Given the description of an element on the screen output the (x, y) to click on. 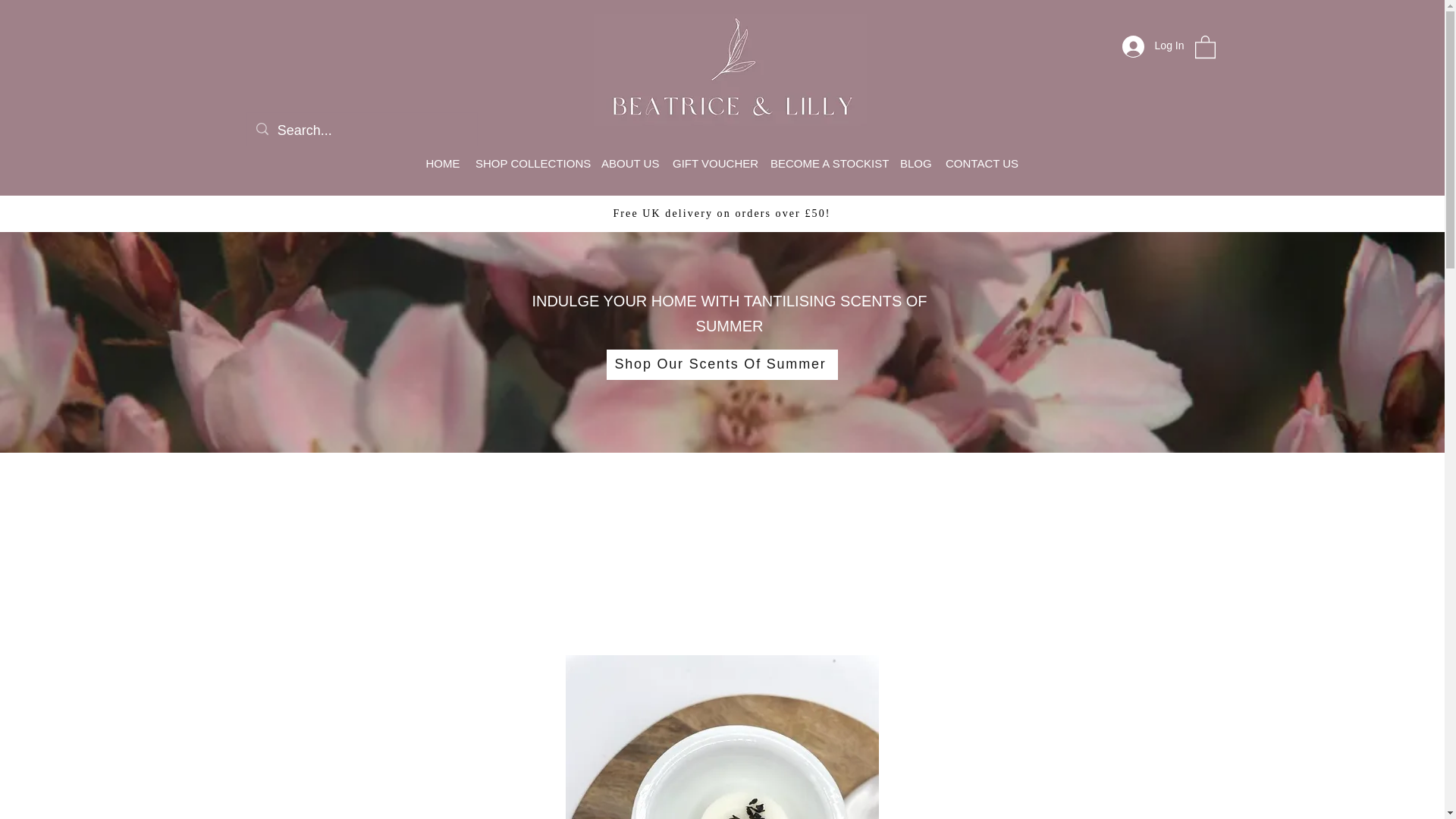
GIFT VOUCHER (713, 163)
CONTACT US (981, 163)
ABOUT US (629, 163)
Shop Our Scents Of Summer (722, 364)
BLOG (914, 163)
BECOME A STOCKIST (827, 163)
HOME (442, 163)
Log In (1153, 45)
